Given the description of an element on the screen output the (x, y) to click on. 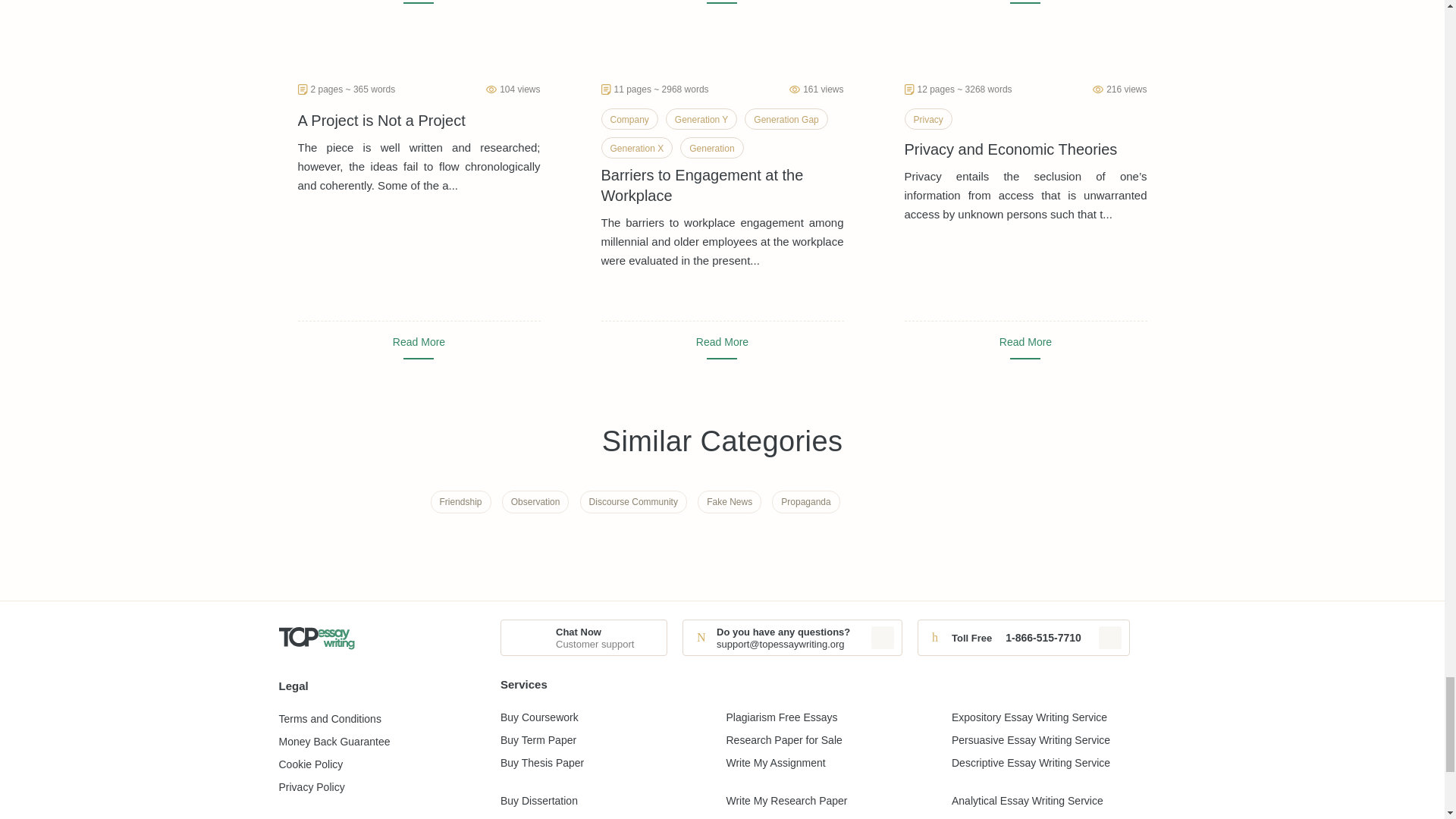
Copied to clipboard (1110, 637)
Copied to clipboard (881, 637)
